Given the description of an element on the screen output the (x, y) to click on. 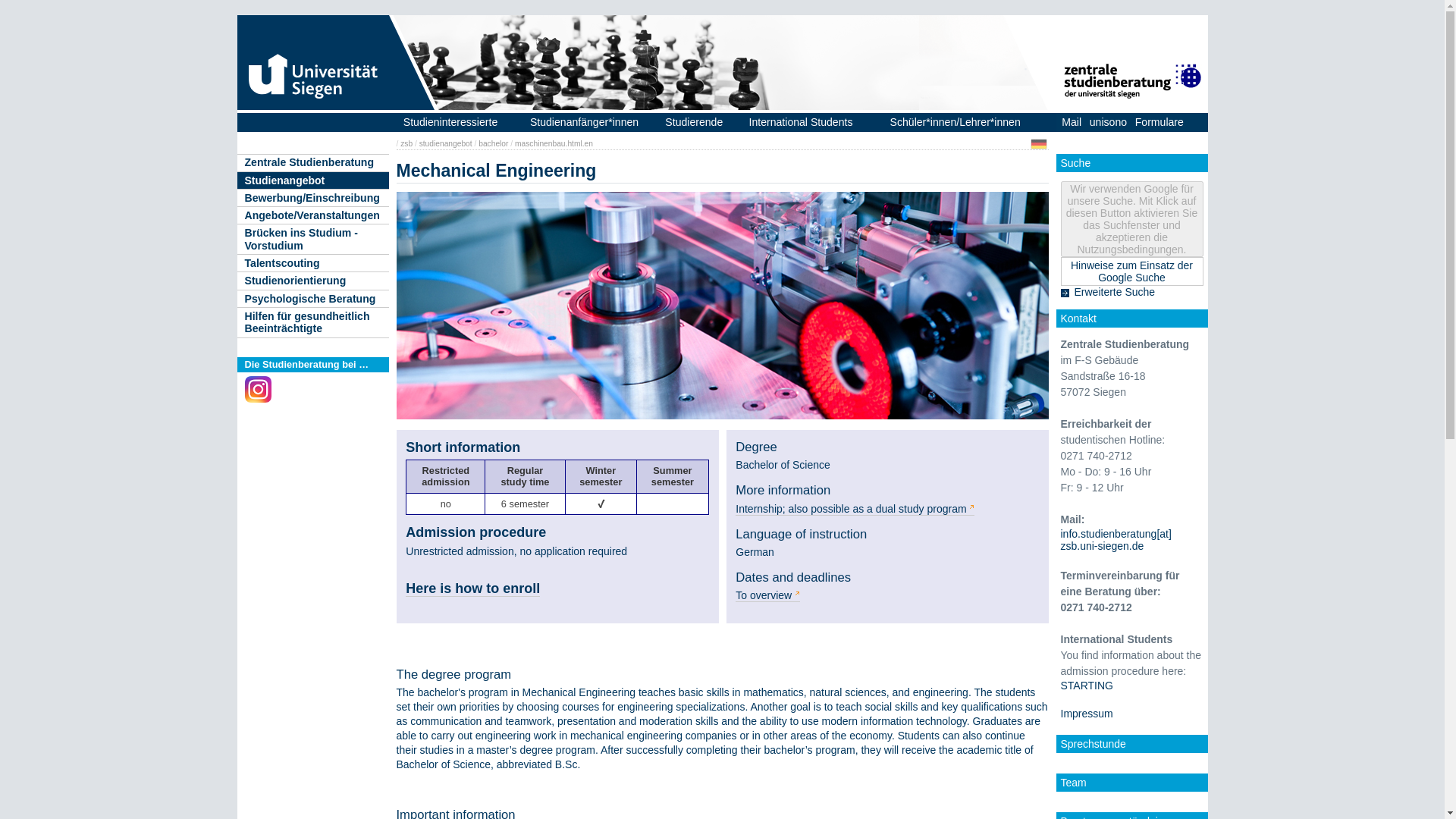
STARTING (1086, 685)
Formulare (1159, 122)
Erweiterte Suche (1114, 291)
Psychologische Beratung (311, 298)
Sprechstunde (1092, 743)
Studienorientierung (311, 280)
Kontakt (1077, 318)
Hinweise zum Einsatz der Google Suche (1131, 271)
Studienangebot (311, 180)
Mail (1071, 122)
